Given the description of an element on the screen output the (x, y) to click on. 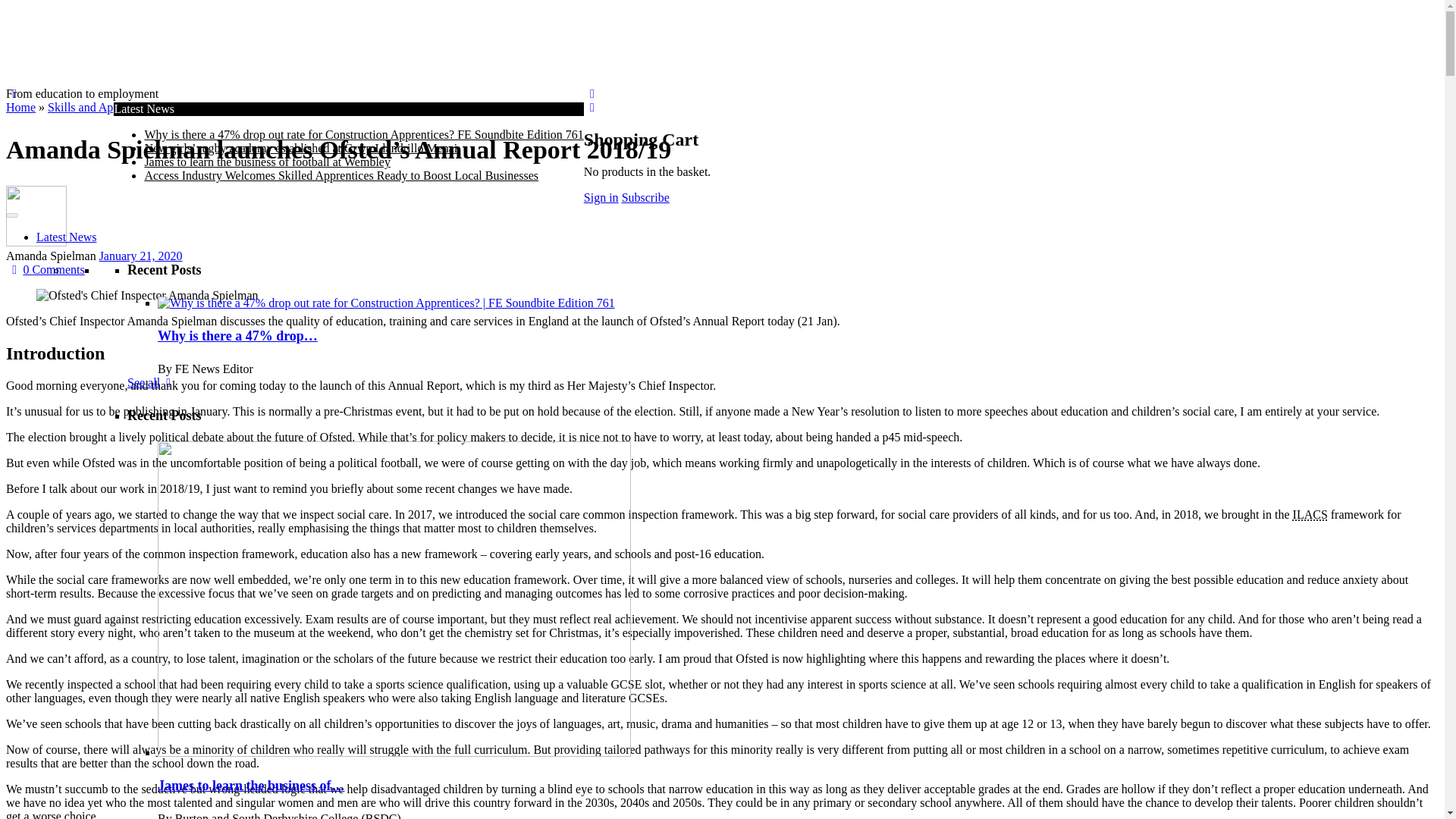
See all (152, 382)
Latest News (66, 236)
Subscribe (645, 196)
James to learn the business of football at Wembley (267, 161)
Sign in (600, 196)
